Given the description of an element on the screen output the (x, y) to click on. 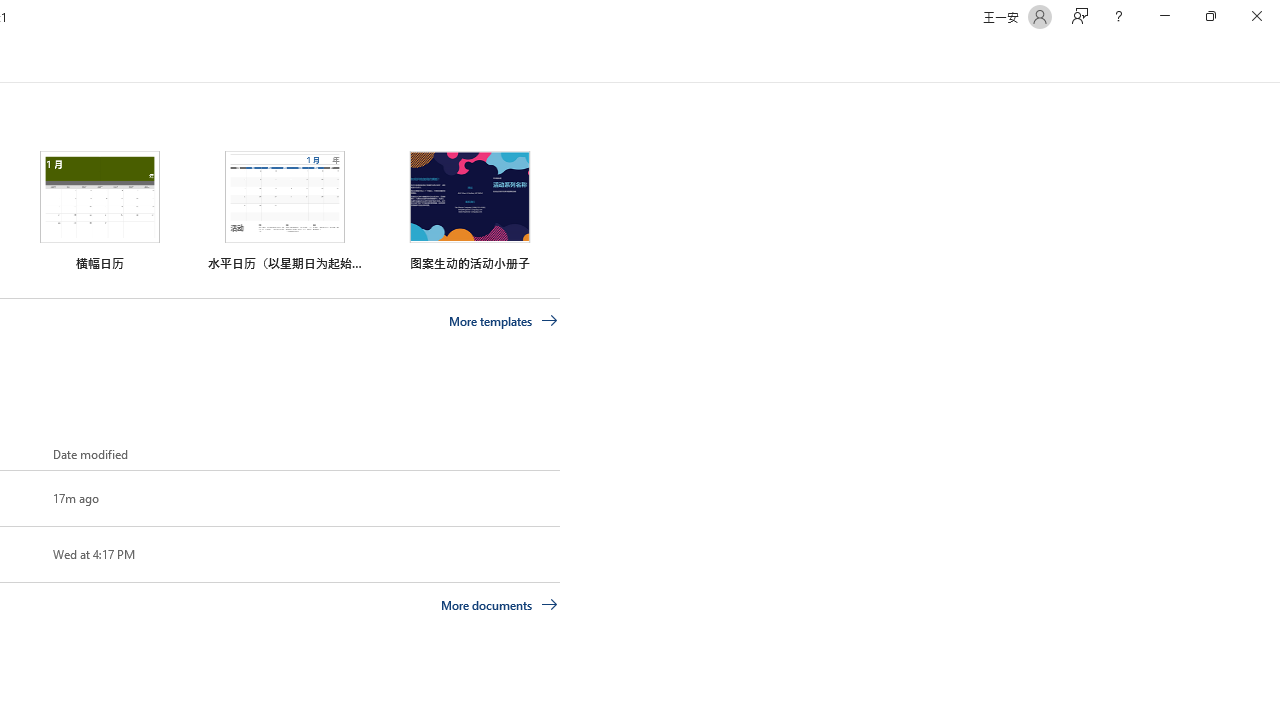
Class: NetUIScrollBar (1271, 59)
Help (1118, 16)
Close (1256, 16)
More documents (499, 604)
More templates (503, 321)
Minimize (1164, 16)
Pin this item to the list (20, 553)
Restore Down (1210, 16)
